Given the description of an element on the screen output the (x, y) to click on. 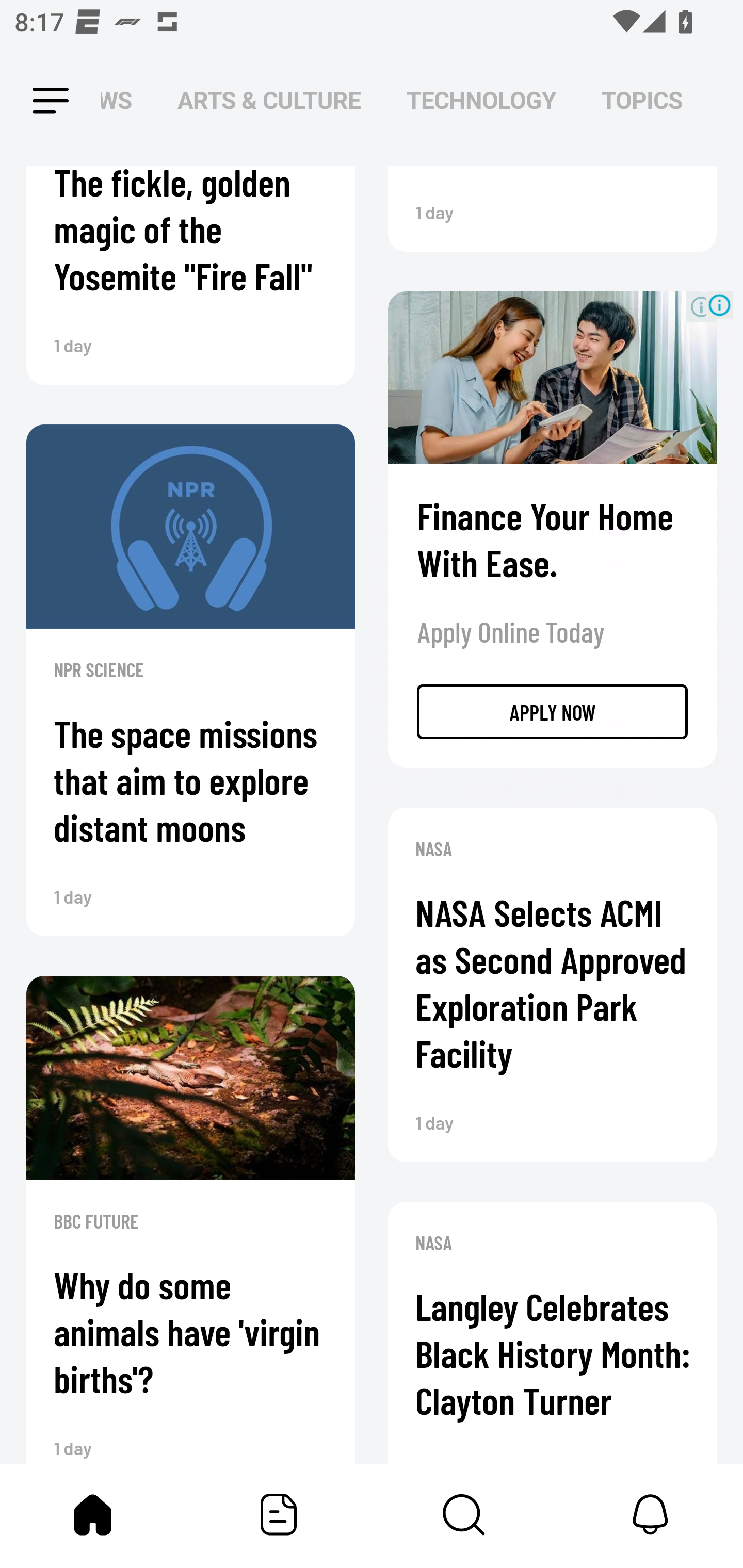
NEWS (122, 100)
ARTS & CULTURE (269, 100)
TECHNOLOGY (481, 100)
TOPICS (641, 100)
Ad Choices Icon (719, 304)
Featured (278, 1514)
Content Store (464, 1514)
Notifications (650, 1514)
